Given the description of an element on the screen output the (x, y) to click on. 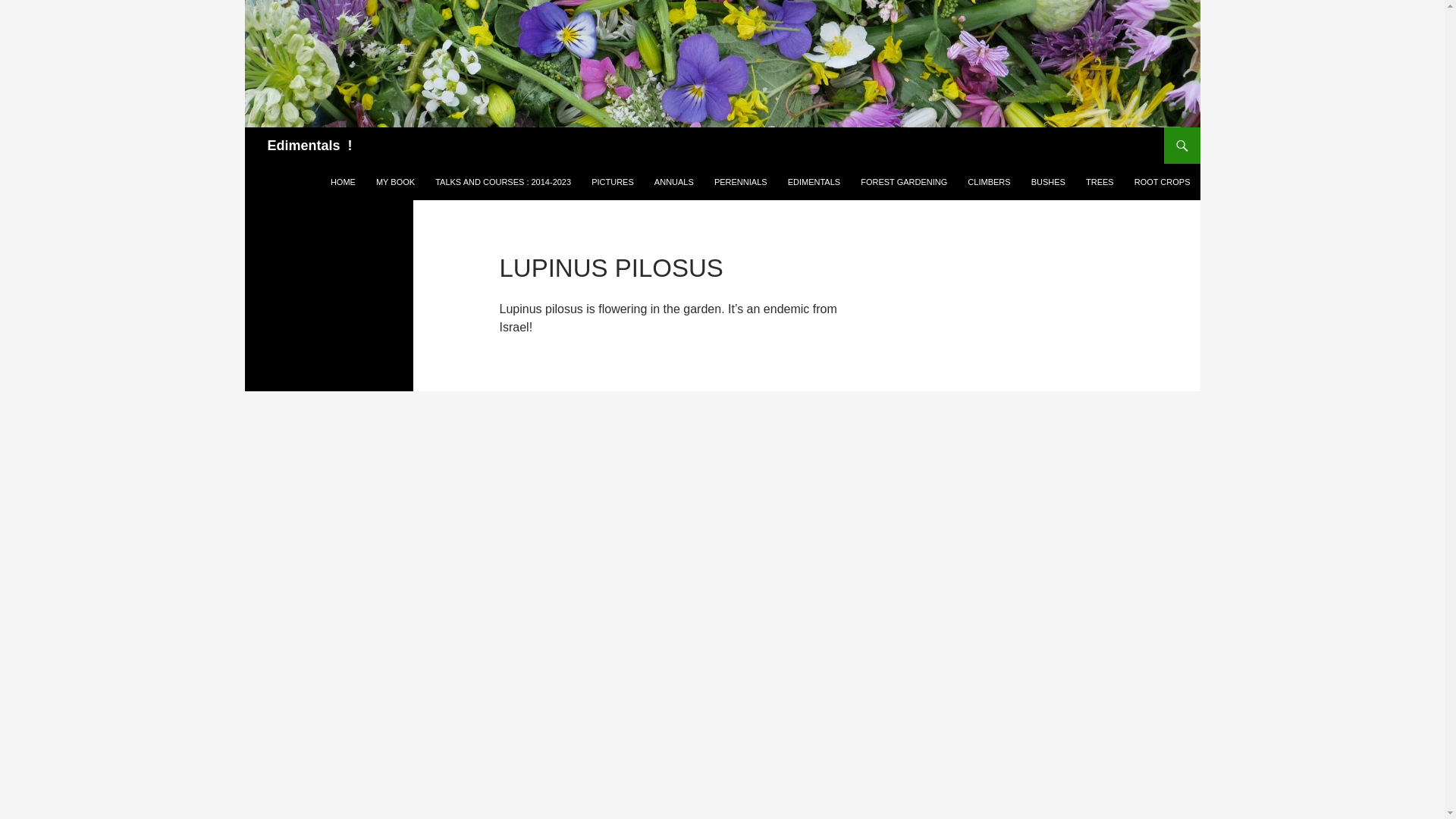
EDIMENTALS (813, 181)
ROOT CROPS (1162, 181)
PICTURES (612, 181)
TALKS AND COURSES : 2014-2023 (502, 181)
HOME (343, 181)
PERENNIALS (740, 181)
MY BOOK (394, 181)
FOREST GARDENING (903, 181)
Edimentals  ! (309, 145)
